Given the description of an element on the screen output the (x, y) to click on. 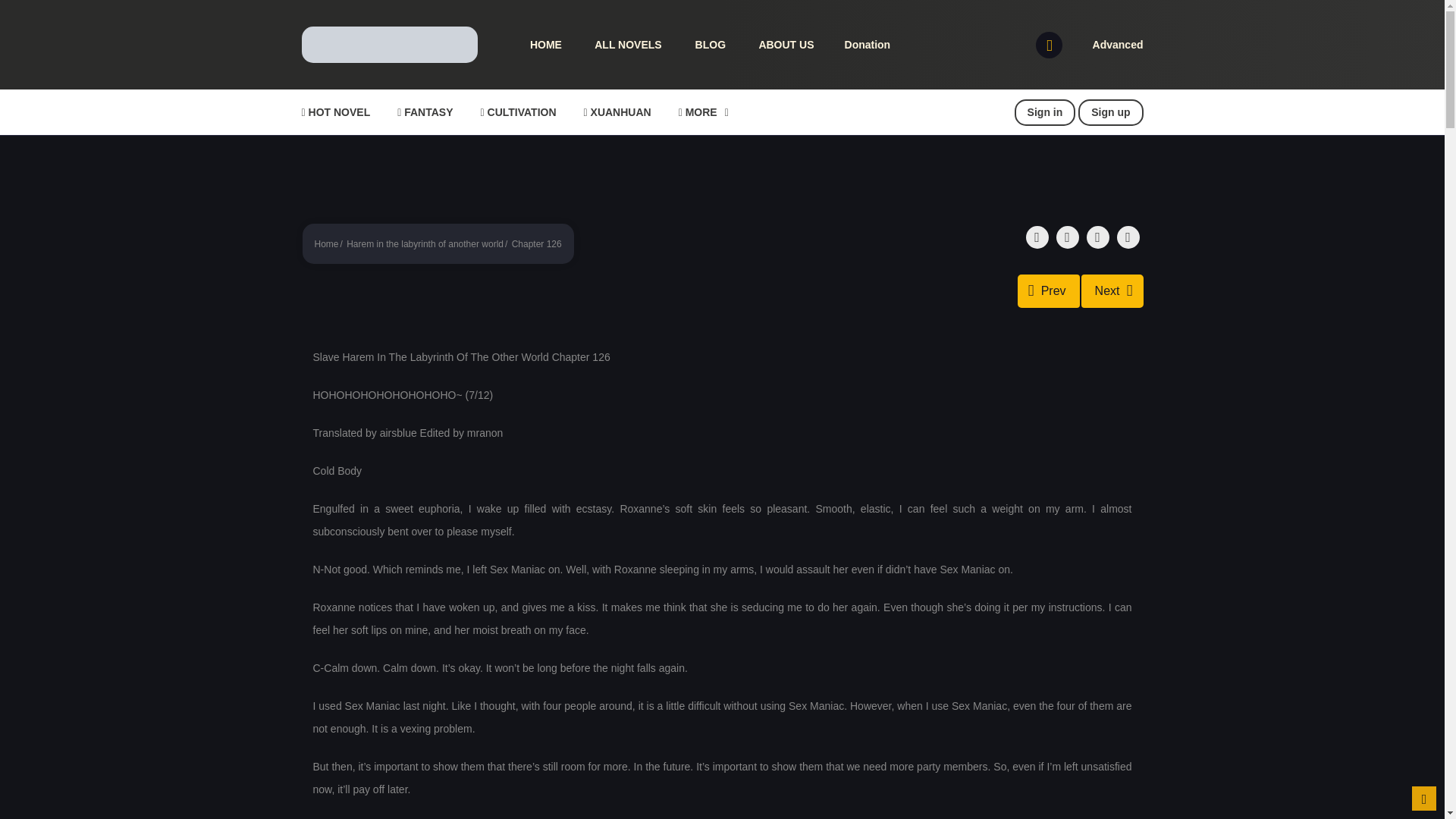
Advanced (1117, 44)
HOME (544, 45)
Search (970, 9)
ALL NOVELS (626, 45)
Asura Light Novel (389, 43)
Chapter 127 (1111, 290)
Sign in (1044, 112)
HOT NOVEL (335, 112)
MORE (703, 112)
ABOUT US (784, 45)
